Given the description of an element on the screen output the (x, y) to click on. 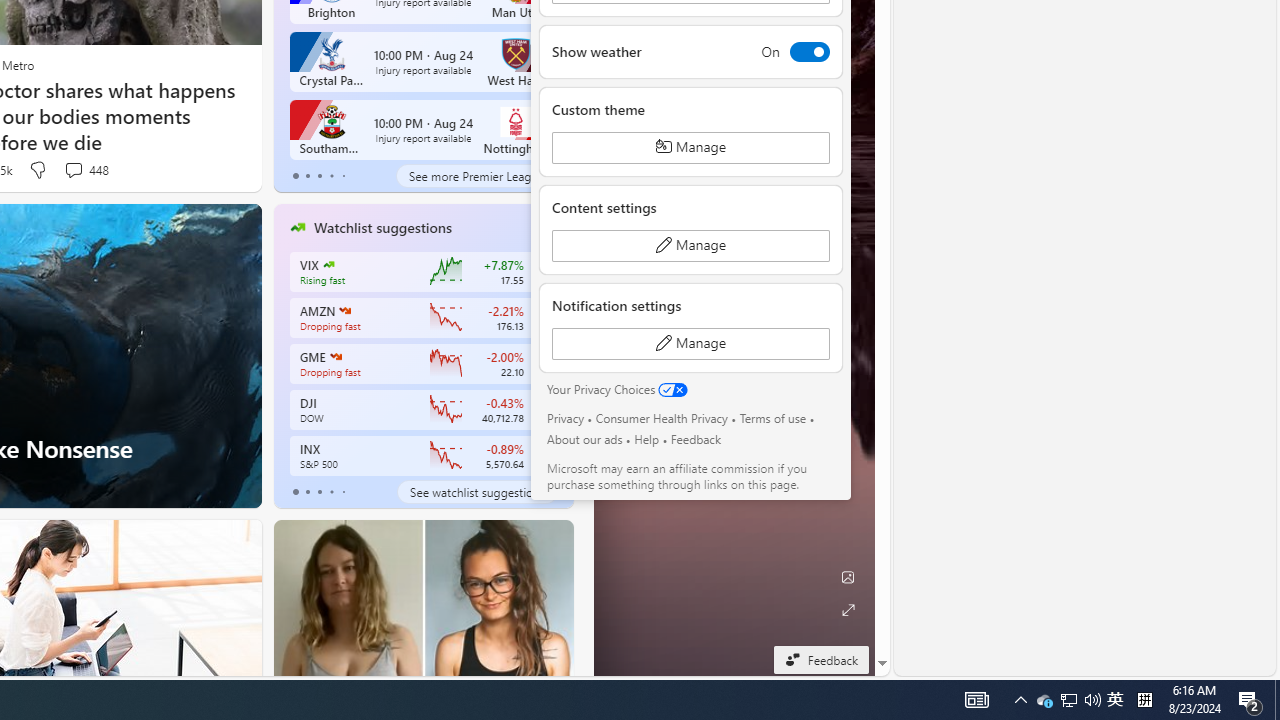
GAMESTOP CORP. (334, 356)
Manage (690, 344)
tab-0 (295, 491)
Show weather On (690, 51)
